Given the description of an element on the screen output the (x, y) to click on. 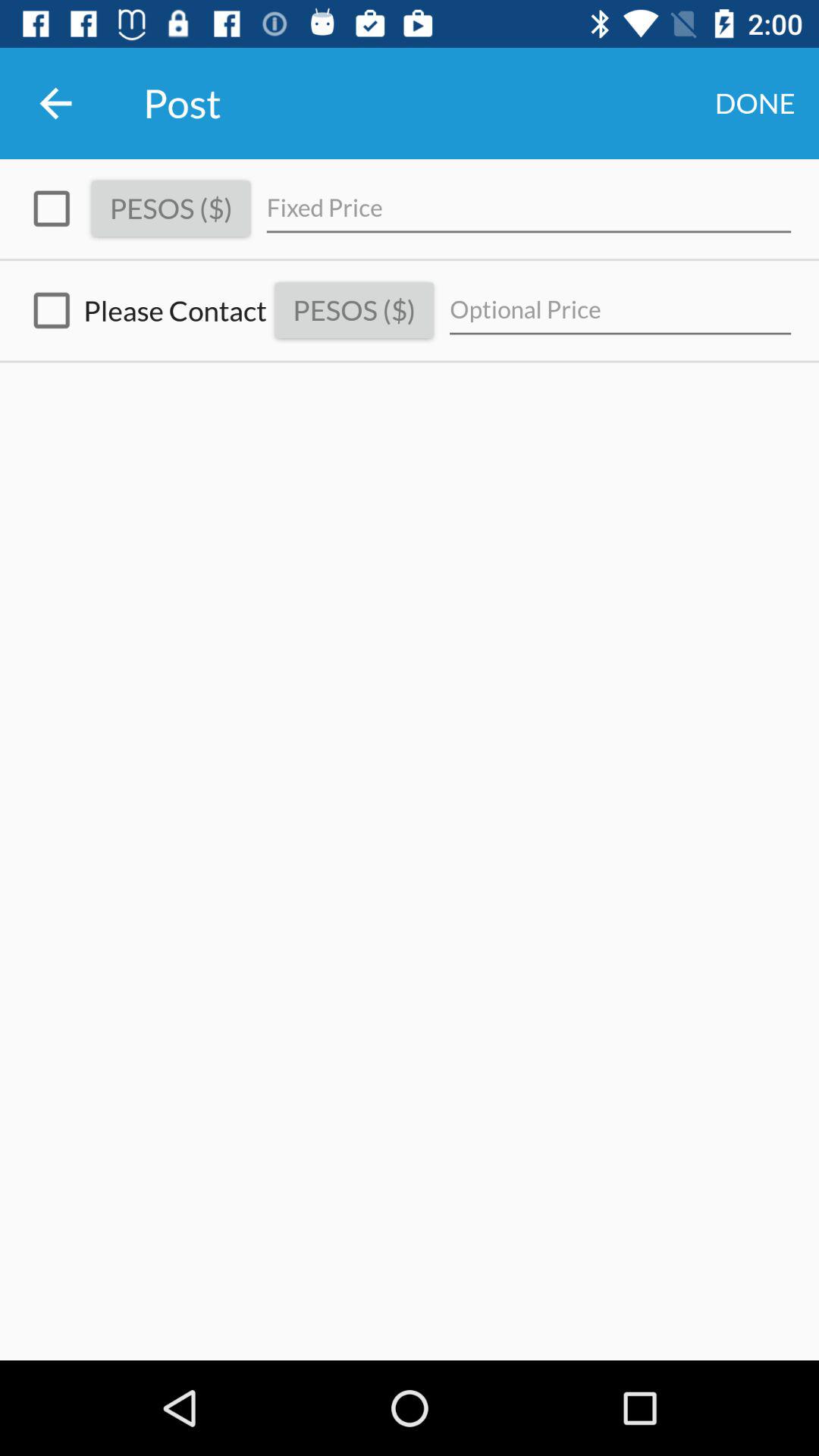
tap item to the left of the post (55, 103)
